Given the description of an element on the screen output the (x, y) to click on. 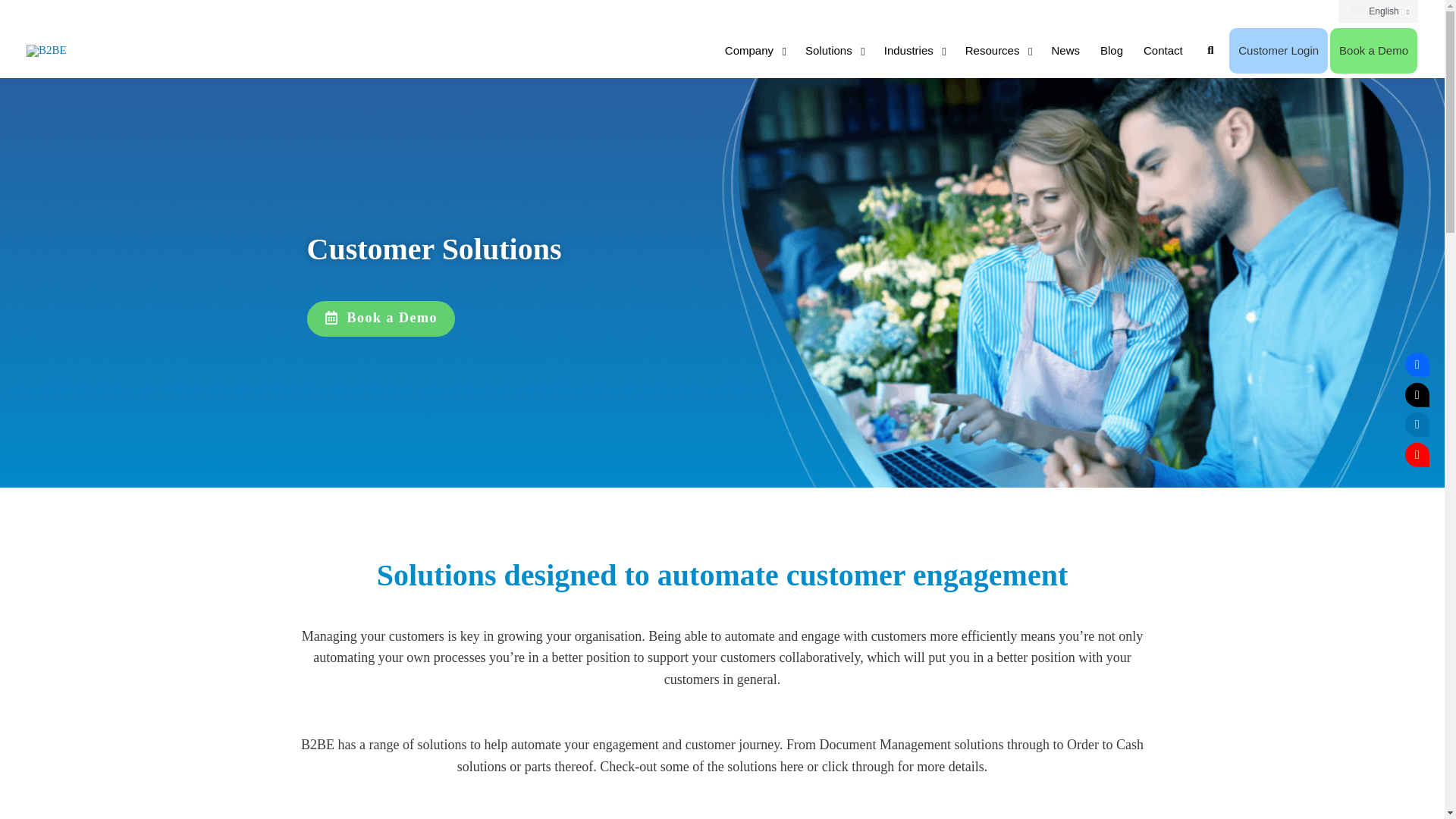
YouTube (1417, 454)
Search (1211, 50)
X-Twitter (1417, 394)
English (1358, 10)
English (1378, 11)
Facebook (1417, 364)
LinkedIn (1417, 424)
